Given the description of an element on the screen output the (x, y) to click on. 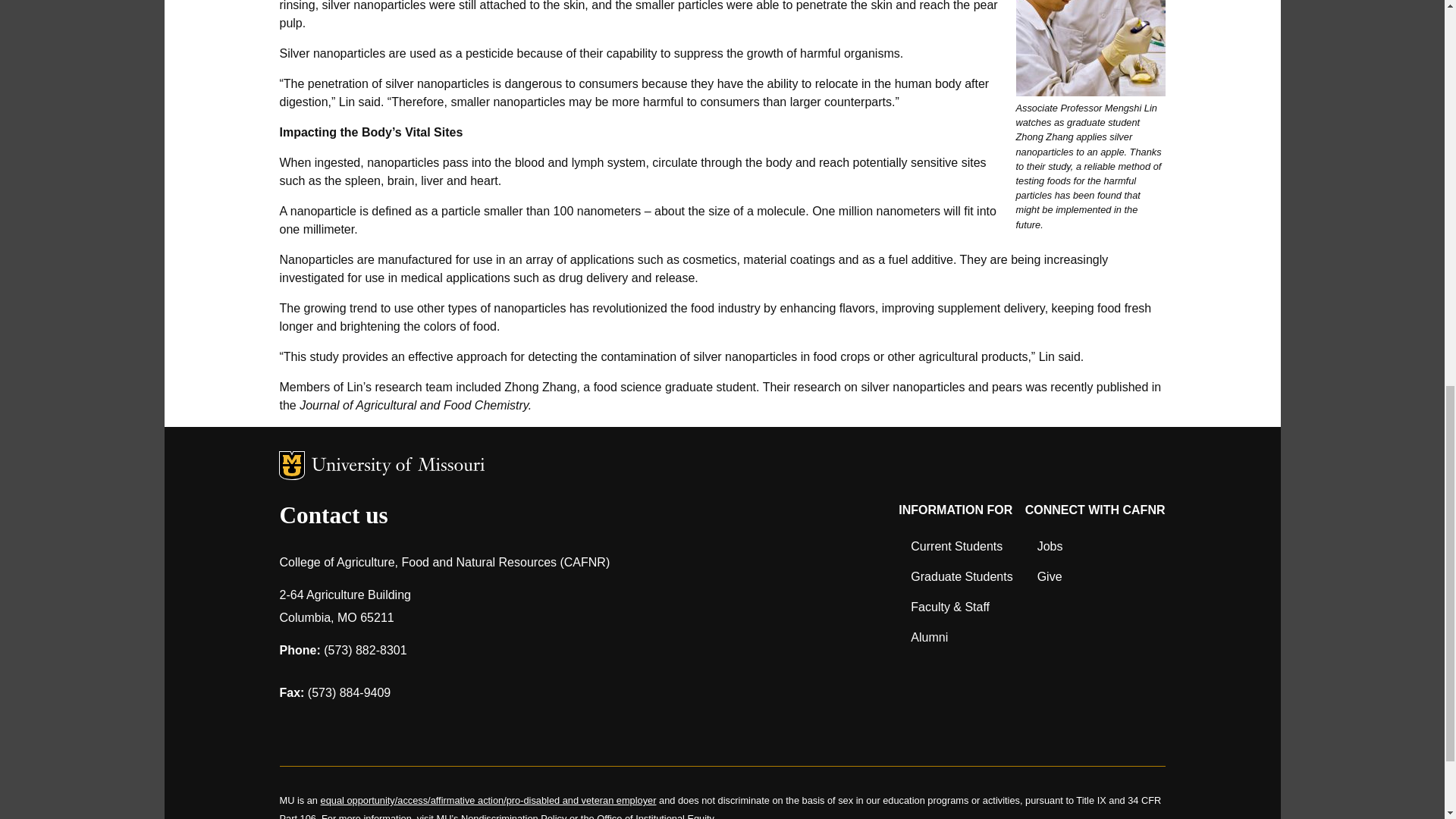
X (371, 728)
Instagram (332, 728)
Linkedin (411, 728)
Youtube (450, 728)
Facebook (292, 728)
